Given the description of an element on the screen output the (x, y) to click on. 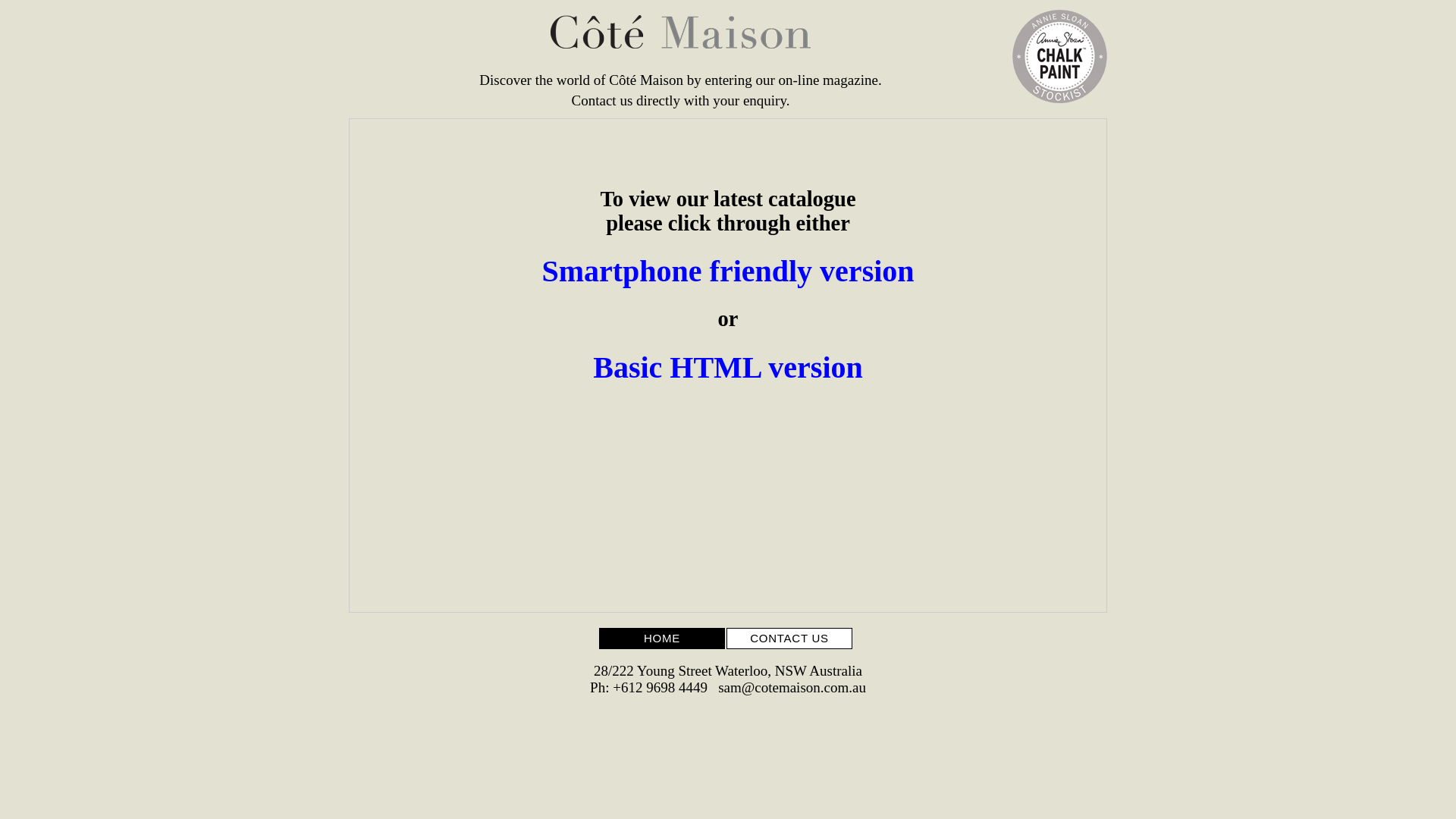
CONTACT US Element type: text (789, 638)
Basic HTML version Element type: text (727, 367)
Smartphone friendly version Element type: text (727, 271)
HOME Element type: text (661, 638)
sam@cotemaison.com.au Element type: text (792, 687)
